Given the description of an element on the screen output the (x, y) to click on. 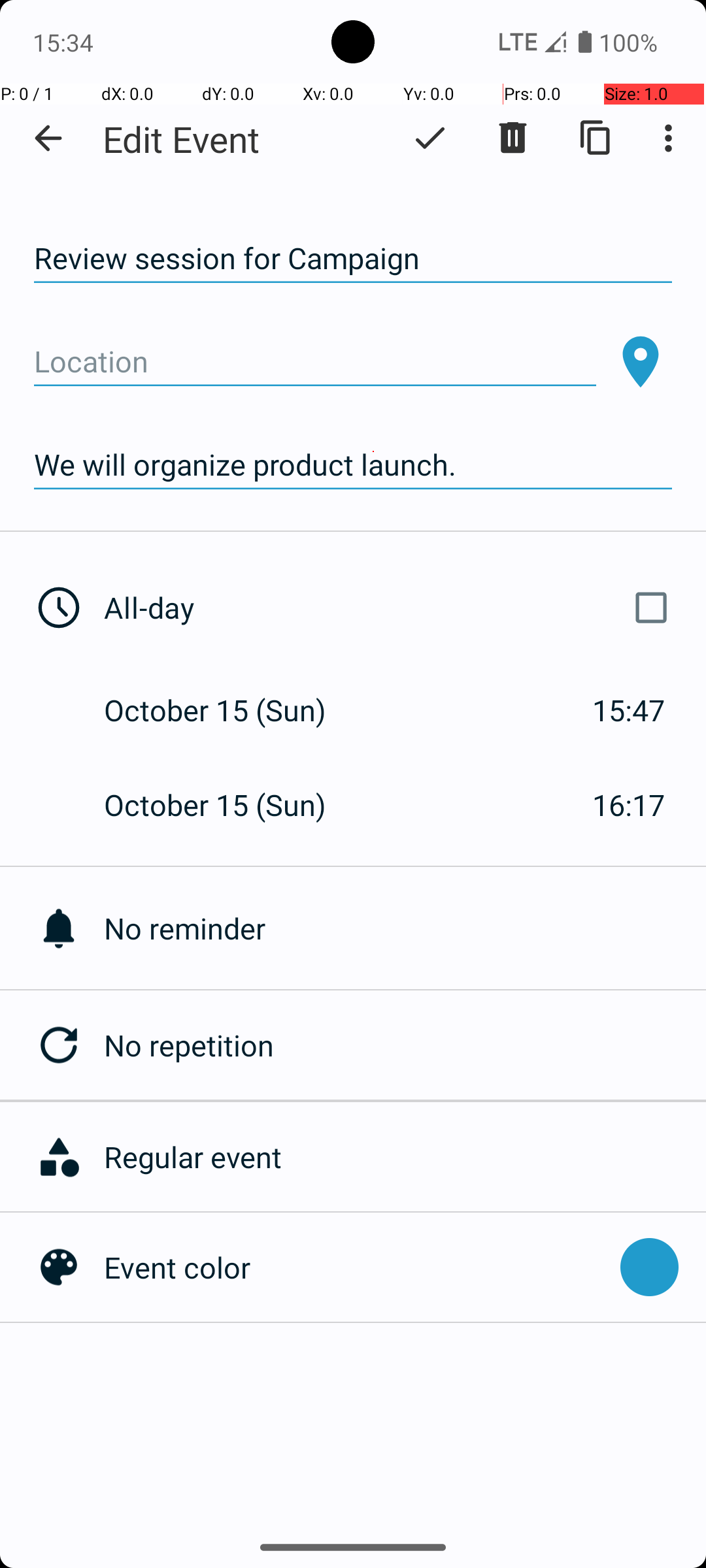
We will organize product launch. Element type: android.widget.EditText (352, 465)
15:47 Element type: android.widget.TextView (628, 709)
16:17 Element type: android.widget.TextView (628, 804)
